Given the description of an element on the screen output the (x, y) to click on. 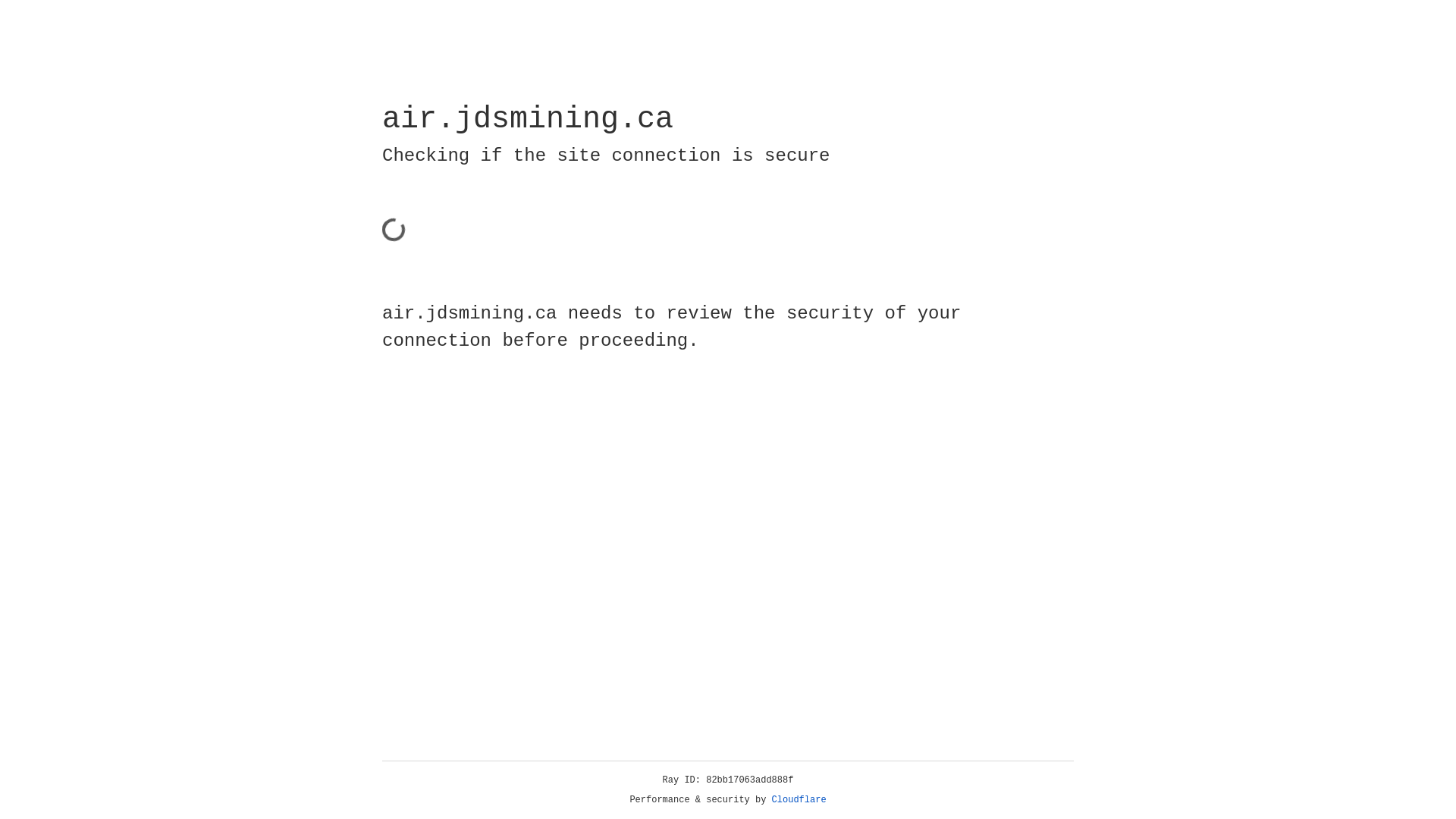
Cloudflare Element type: text (798, 799)
